Given the description of an element on the screen output the (x, y) to click on. 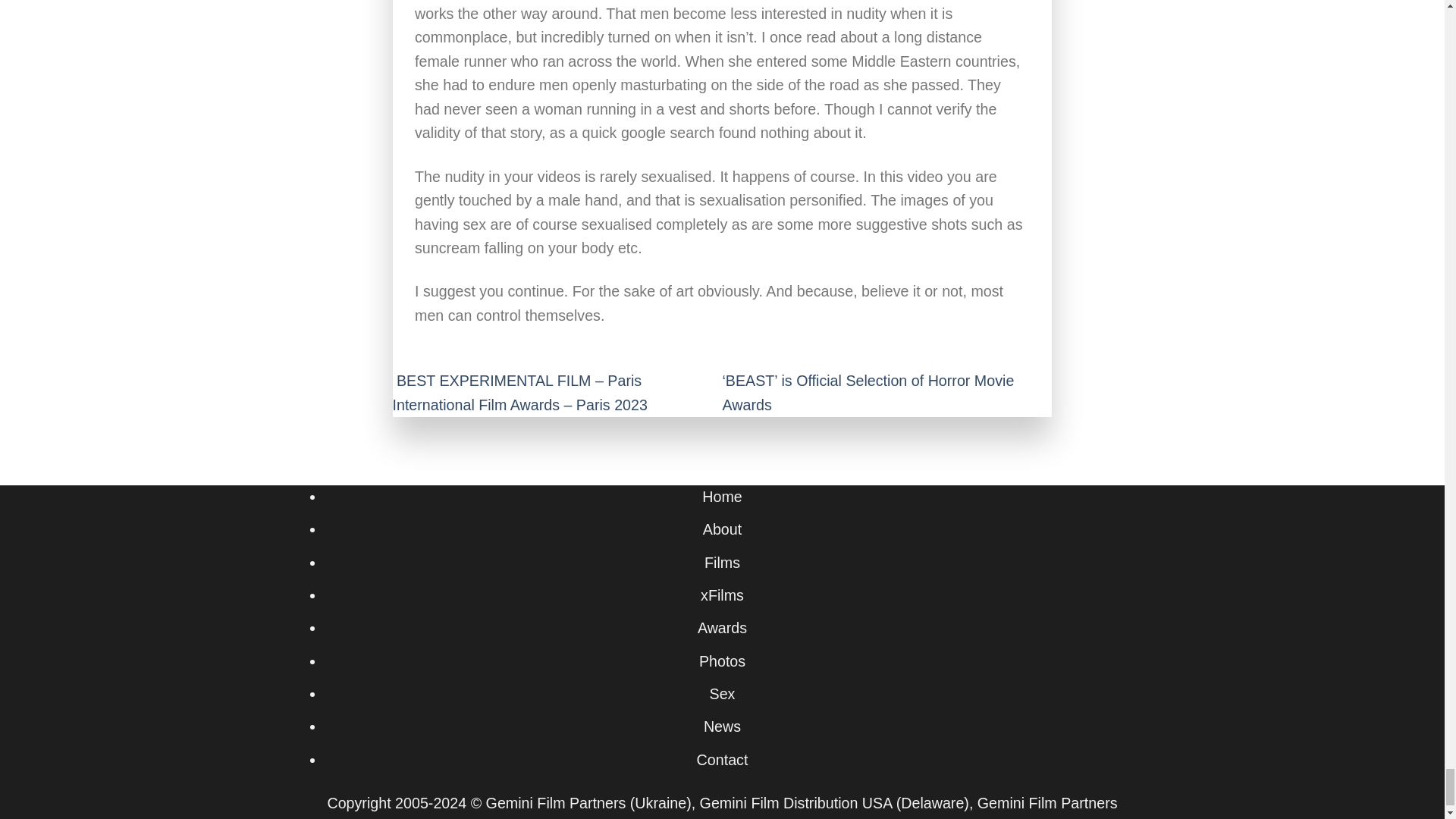
Awards (721, 627)
Home (721, 496)
xFilms (722, 595)
Photos (721, 660)
Contact (722, 759)
About (722, 528)
Sex (722, 693)
News (722, 726)
Films (721, 562)
